Given the description of an element on the screen output the (x, y) to click on. 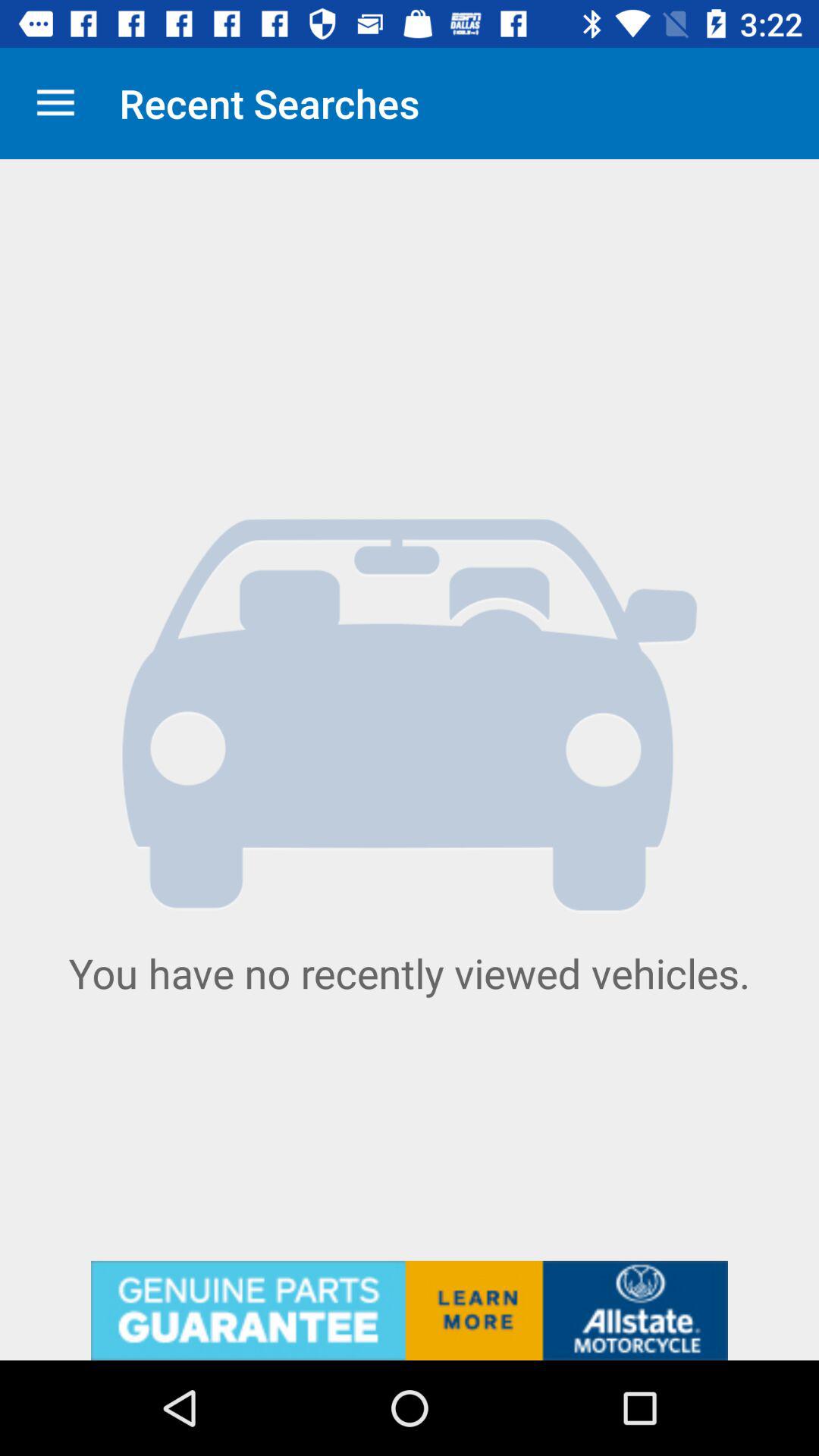
announcement (409, 1310)
